Given the description of an element on the screen output the (x, y) to click on. 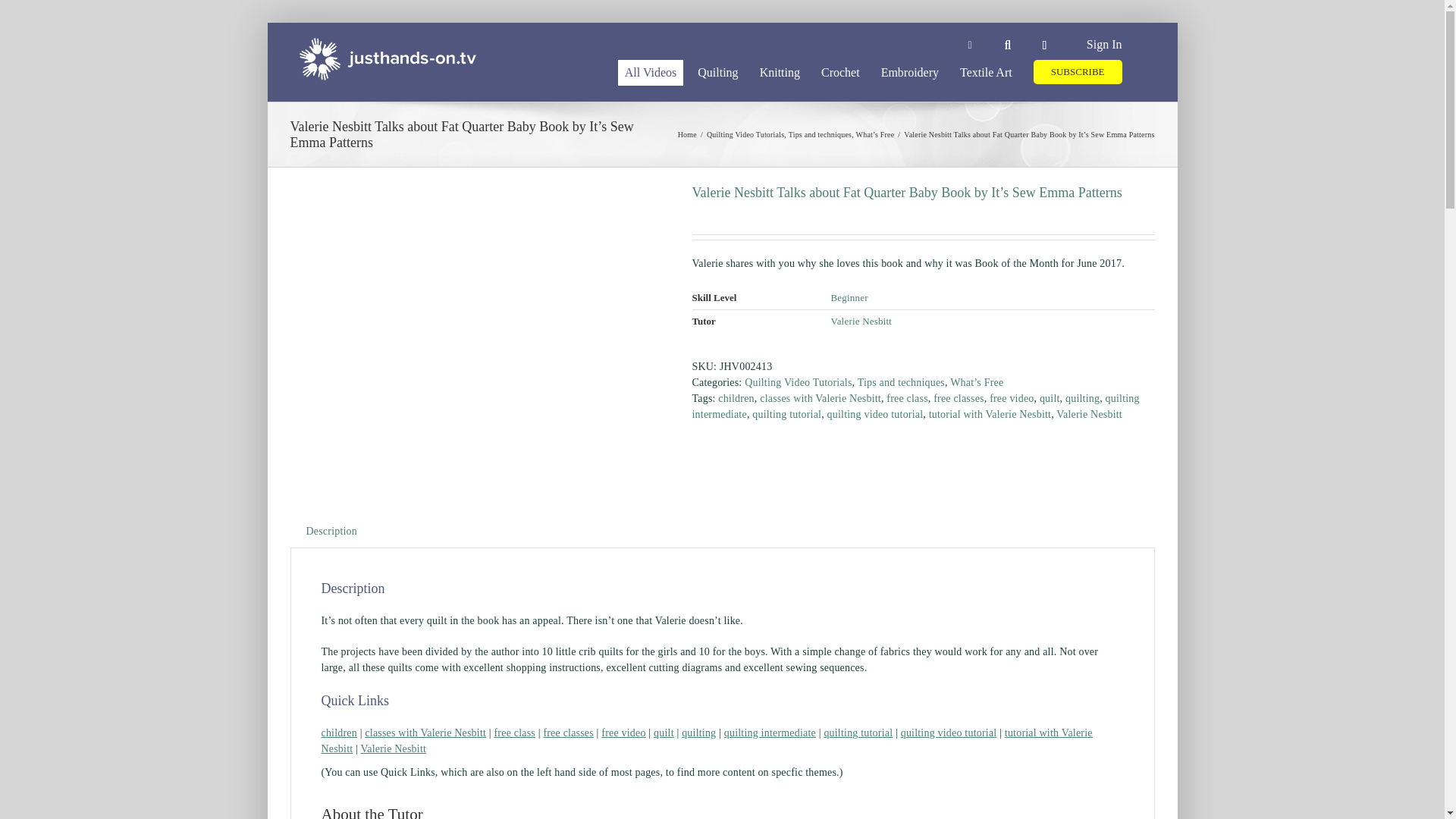
Quilting (717, 71)
Crochet (839, 71)
All Videos (650, 71)
Knitting (779, 71)
